Given the description of an element on the screen output the (x, y) to click on. 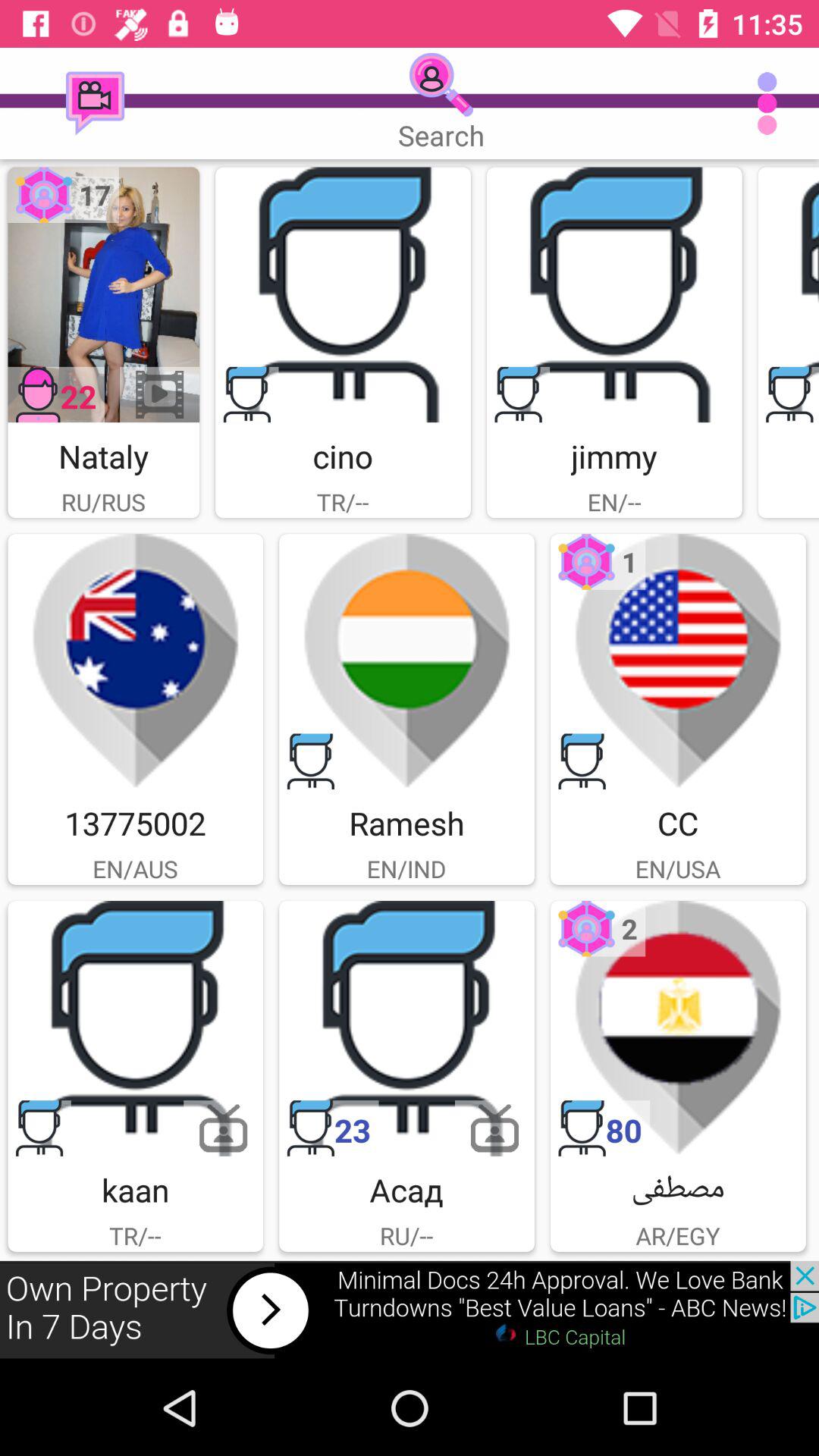
advertisement (409, 1310)
